Given the description of an element on the screen output the (x, y) to click on. 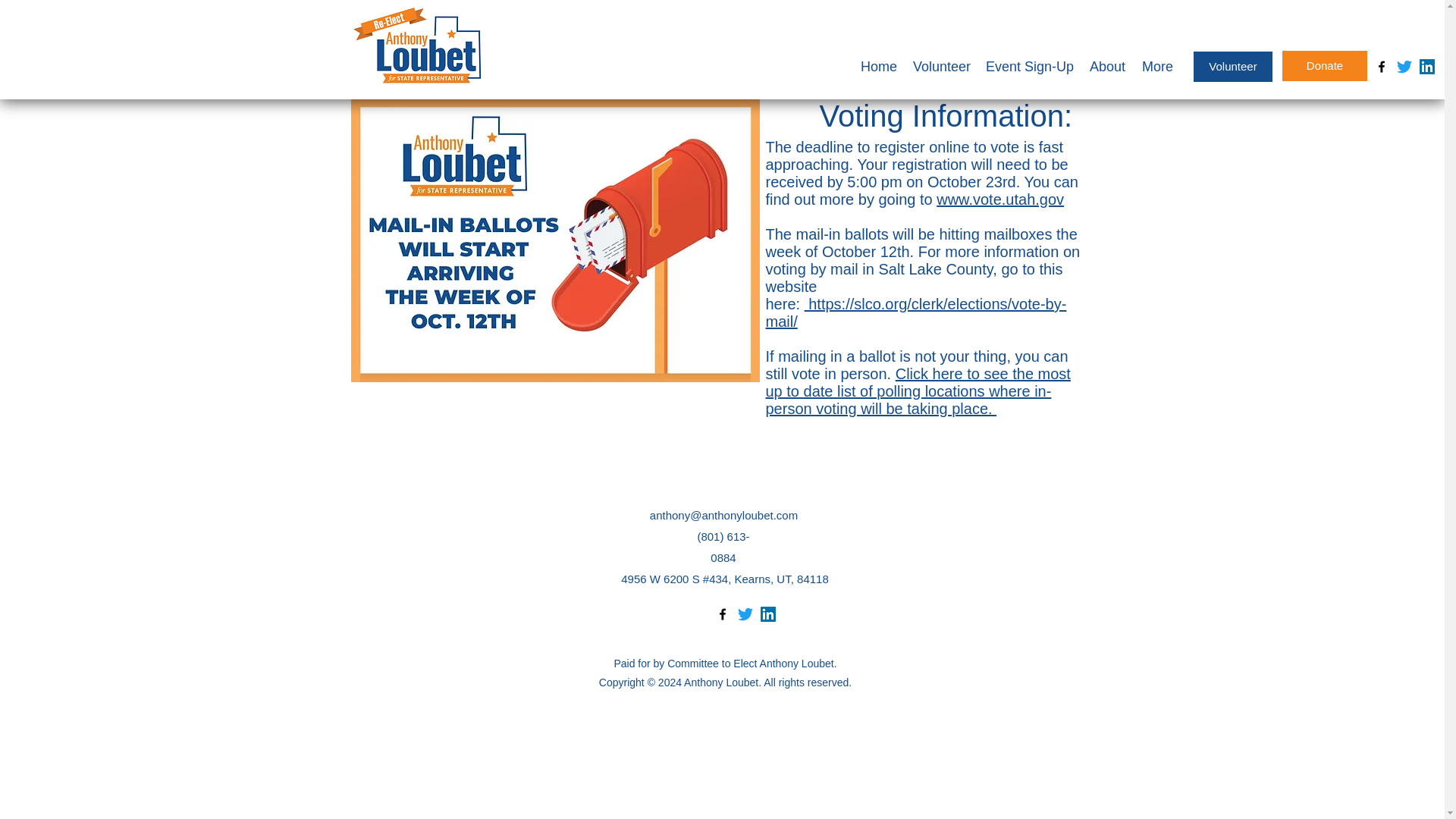
Volunteer (1232, 66)
Donate (1324, 65)
www.vote.utah.gov (1000, 199)
Home (877, 66)
Volunteer (941, 66)
Event Sign-Up (1029, 66)
About (1106, 66)
